Given the description of an element on the screen output the (x, y) to click on. 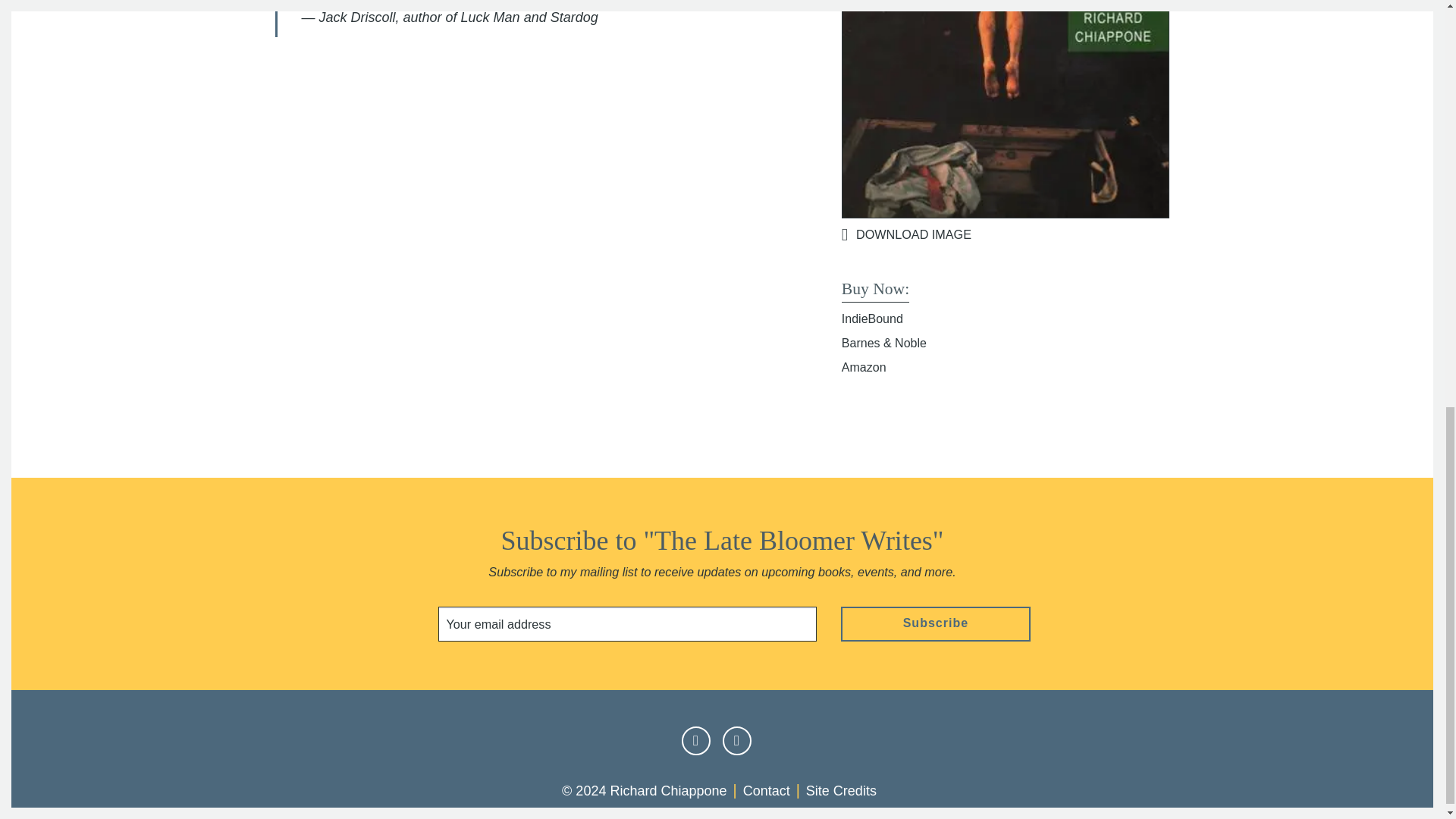
Site Credits (841, 790)
DOWNLOAD IMAGE (1005, 234)
Contact (766, 790)
Amazon (863, 367)
IndieBound (871, 318)
Subscribe (935, 623)
